Given the description of an element on the screen output the (x, y) to click on. 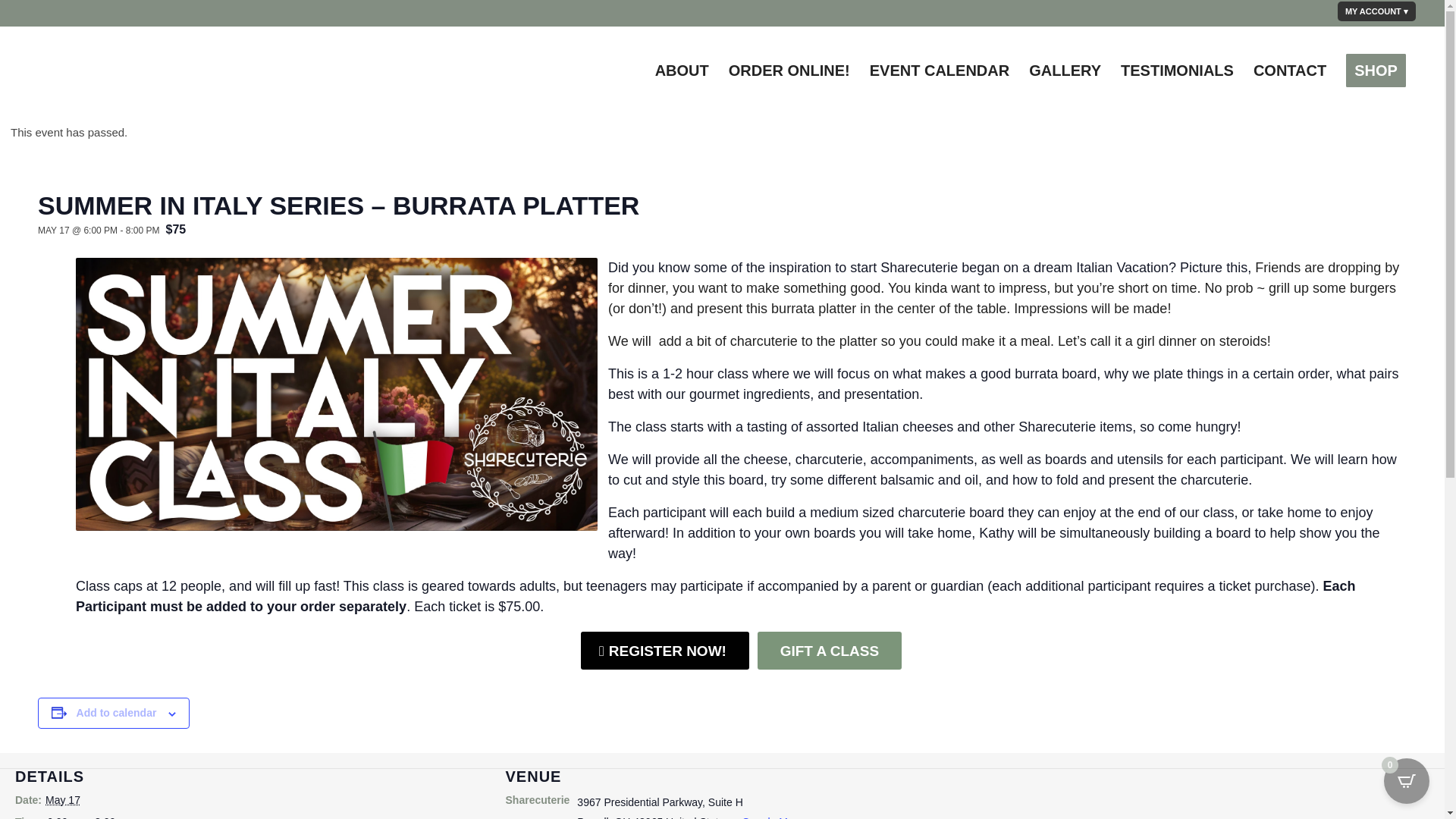
2024-05-17 (89, 816)
Ohio (622, 817)
MY ACCOUNT (1376, 11)
ORDER ONLINE! (789, 70)
2024-05-17 (62, 799)
Google maps iframe displaying the address to Sharecuterie (1212, 793)
Click to view a Google Map (765, 817)
